Given the description of an element on the screen output the (x, y) to click on. 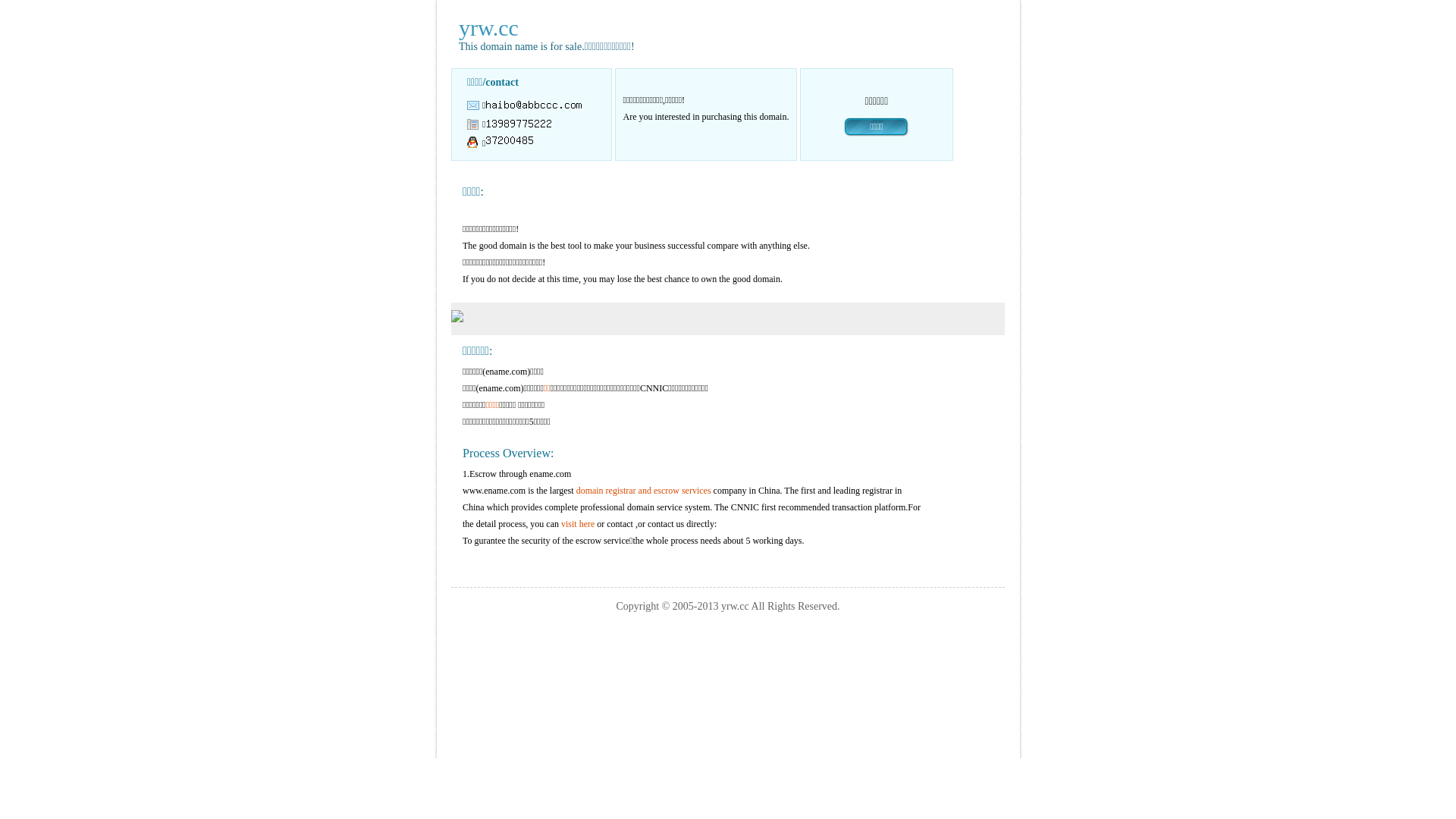
visit here Element type: text (577, 523)
